Given the description of an element on the screen output the (x, y) to click on. 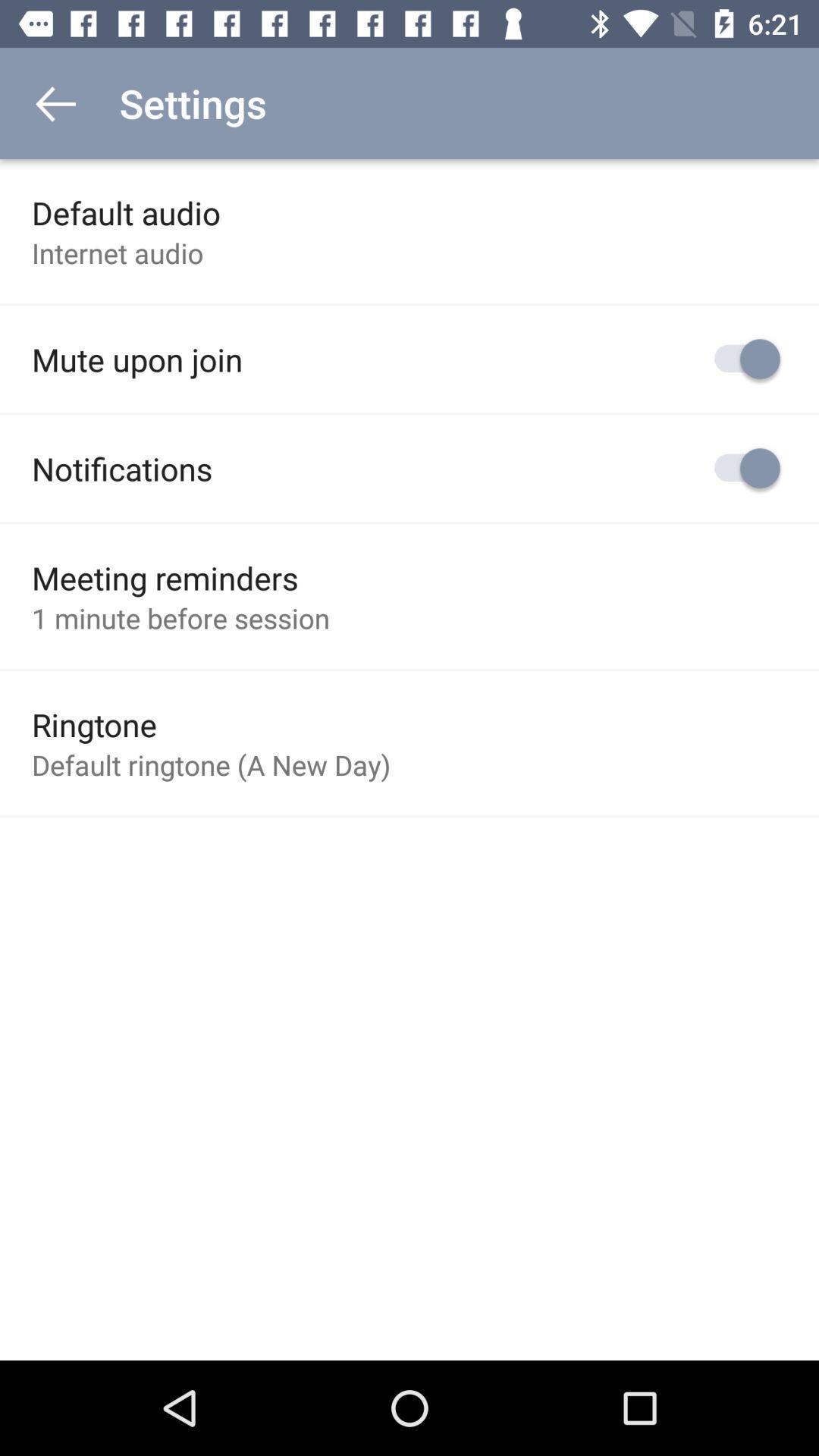
tap item below internet audio (136, 359)
